Given the description of an element on the screen output the (x, y) to click on. 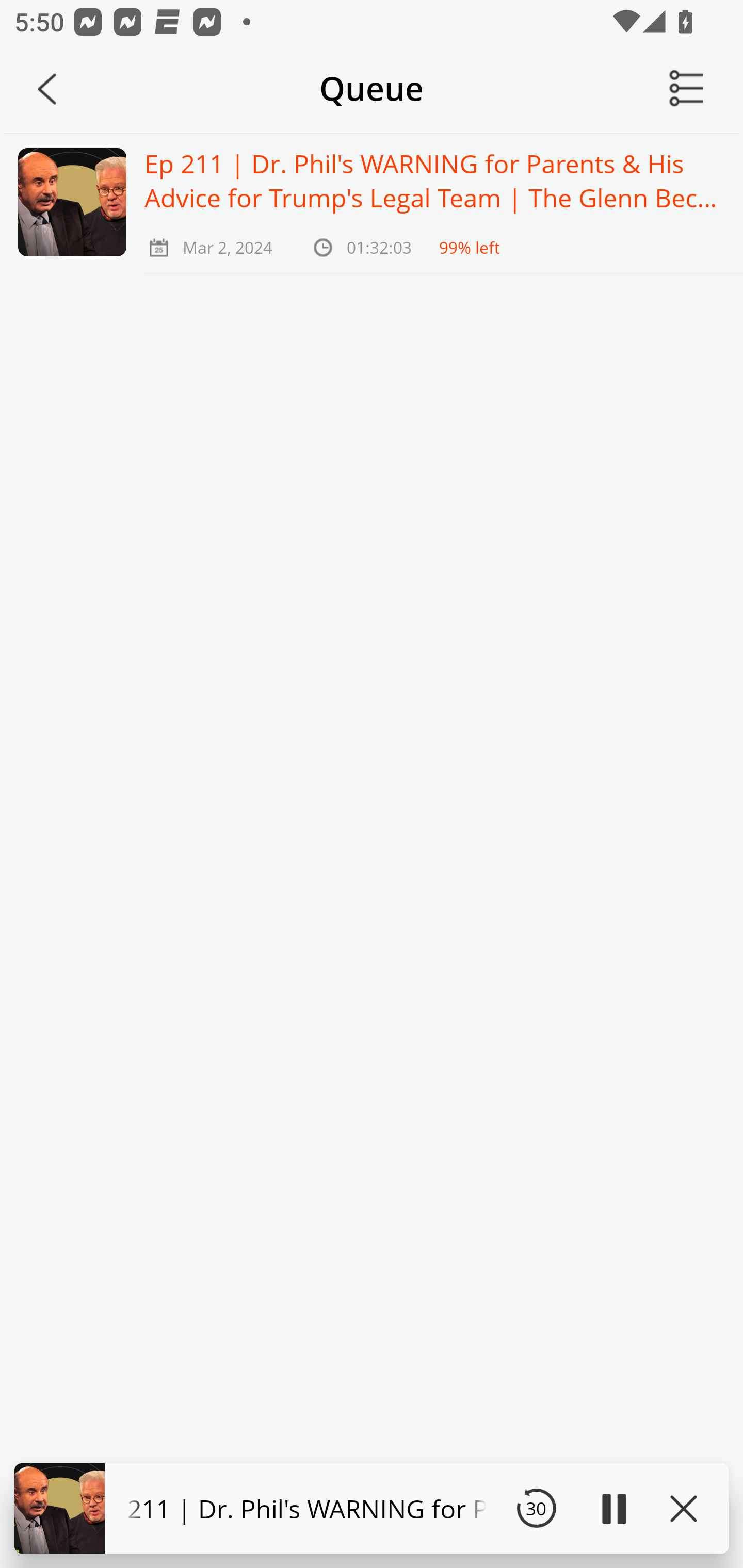
Back (46, 88)
Play (613, 1507)
30 Seek Backward (536, 1508)
